Given the description of an element on the screen output the (x, y) to click on. 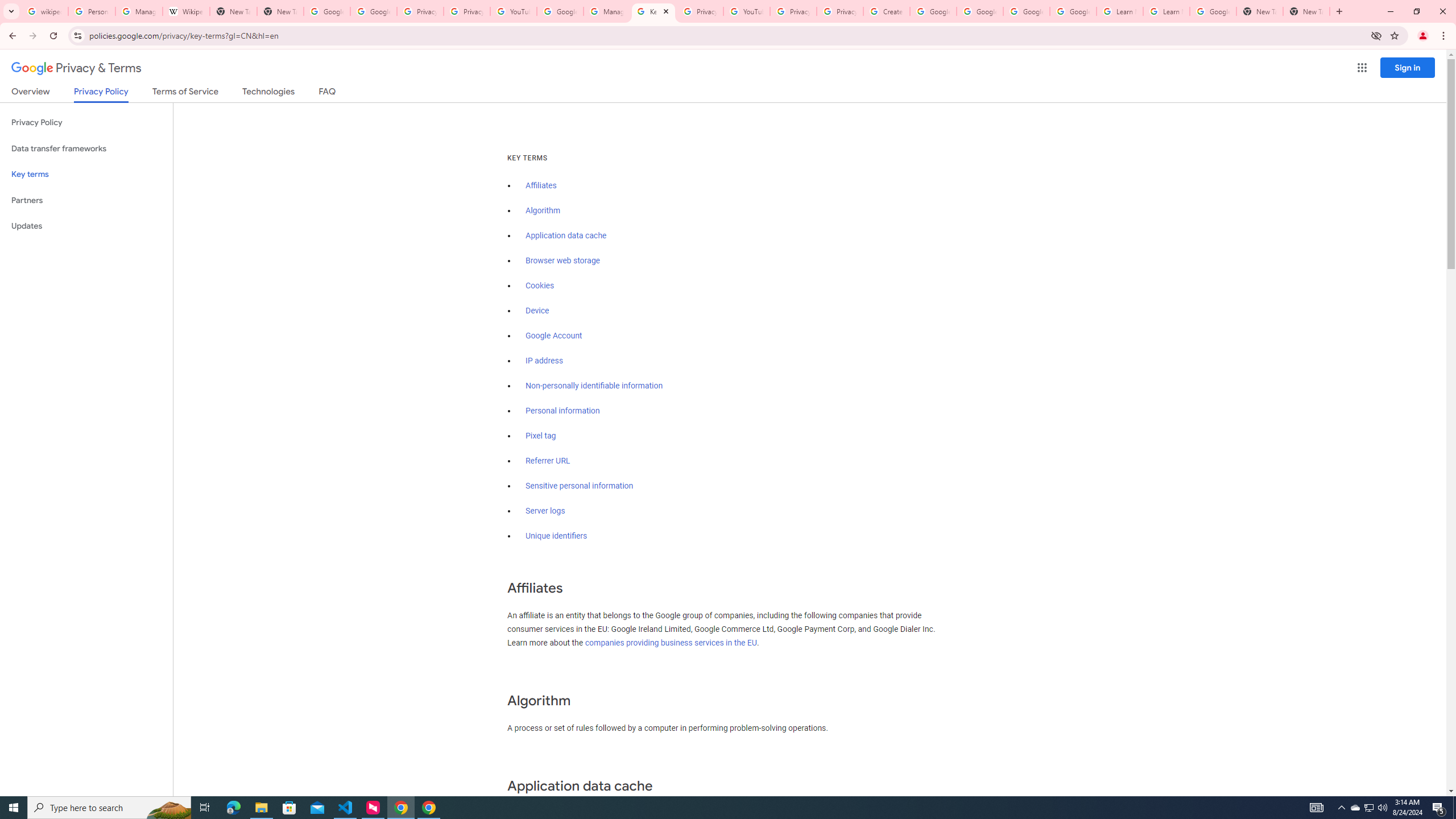
Sensitive personal information (579, 486)
Personal information (562, 411)
Affiliates (540, 185)
Algorithm (542, 210)
Browser web storage (562, 260)
Google Account Help (1073, 11)
Partners (86, 199)
YouTube (745, 11)
Unique identifiers (556, 536)
New Tab (1306, 11)
